Given the description of an element on the screen output the (x, y) to click on. 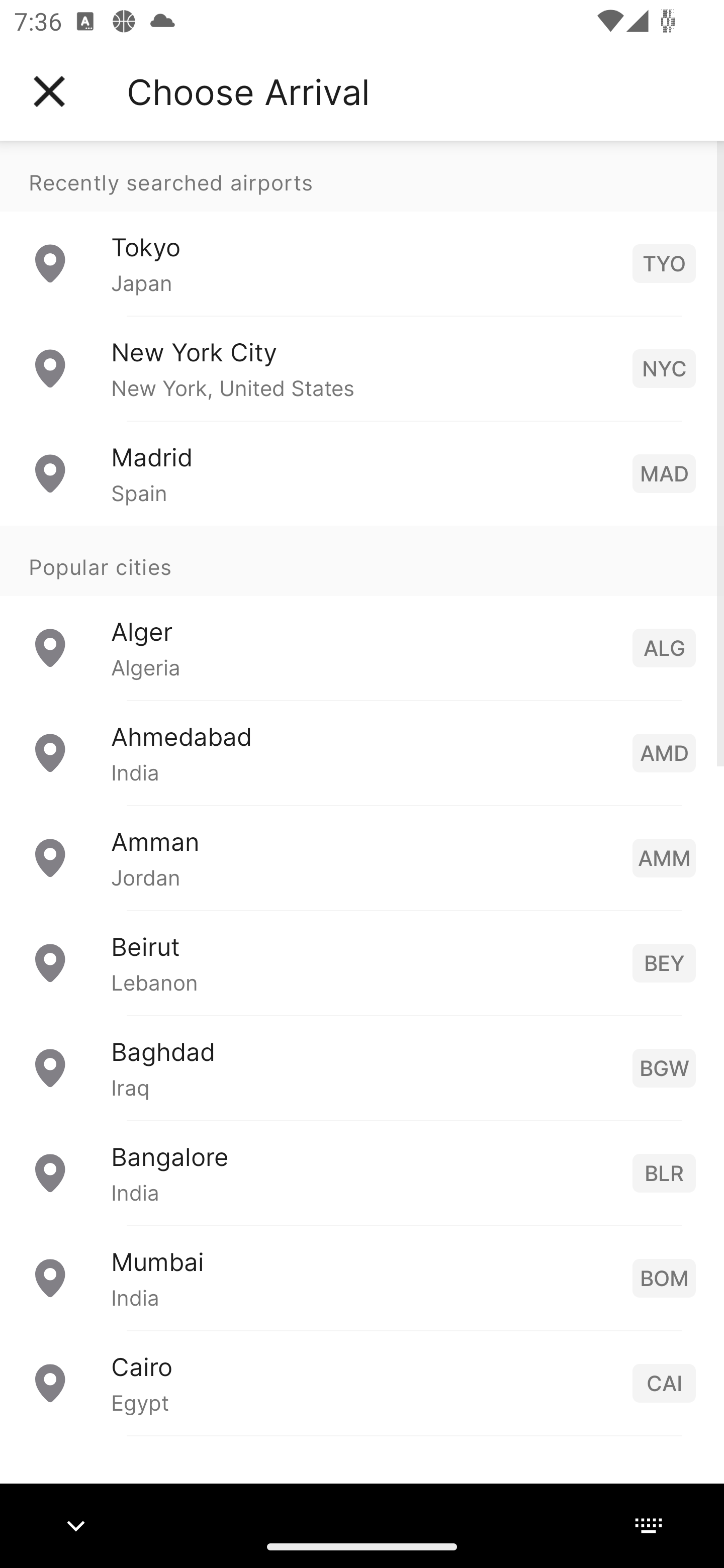
Choose Arrival (247, 91)
Recently searched airports Tokyo Japan TYO (362, 228)
Recently searched airports (362, 176)
New York City New York, United States NYC (362, 367)
Madrid Spain MAD (362, 472)
Popular cities Alger Algeria ALG (362, 612)
Popular cities (362, 560)
Ahmedabad India AMD (362, 751)
Amman Jordan AMM (362, 856)
Beirut Lebanon BEY (362, 961)
Baghdad Iraq BGW (362, 1066)
Bangalore India BLR (362, 1171)
Mumbai India BOM (362, 1276)
Cairo Egypt CAI (362, 1381)
